Given the description of an element on the screen output the (x, y) to click on. 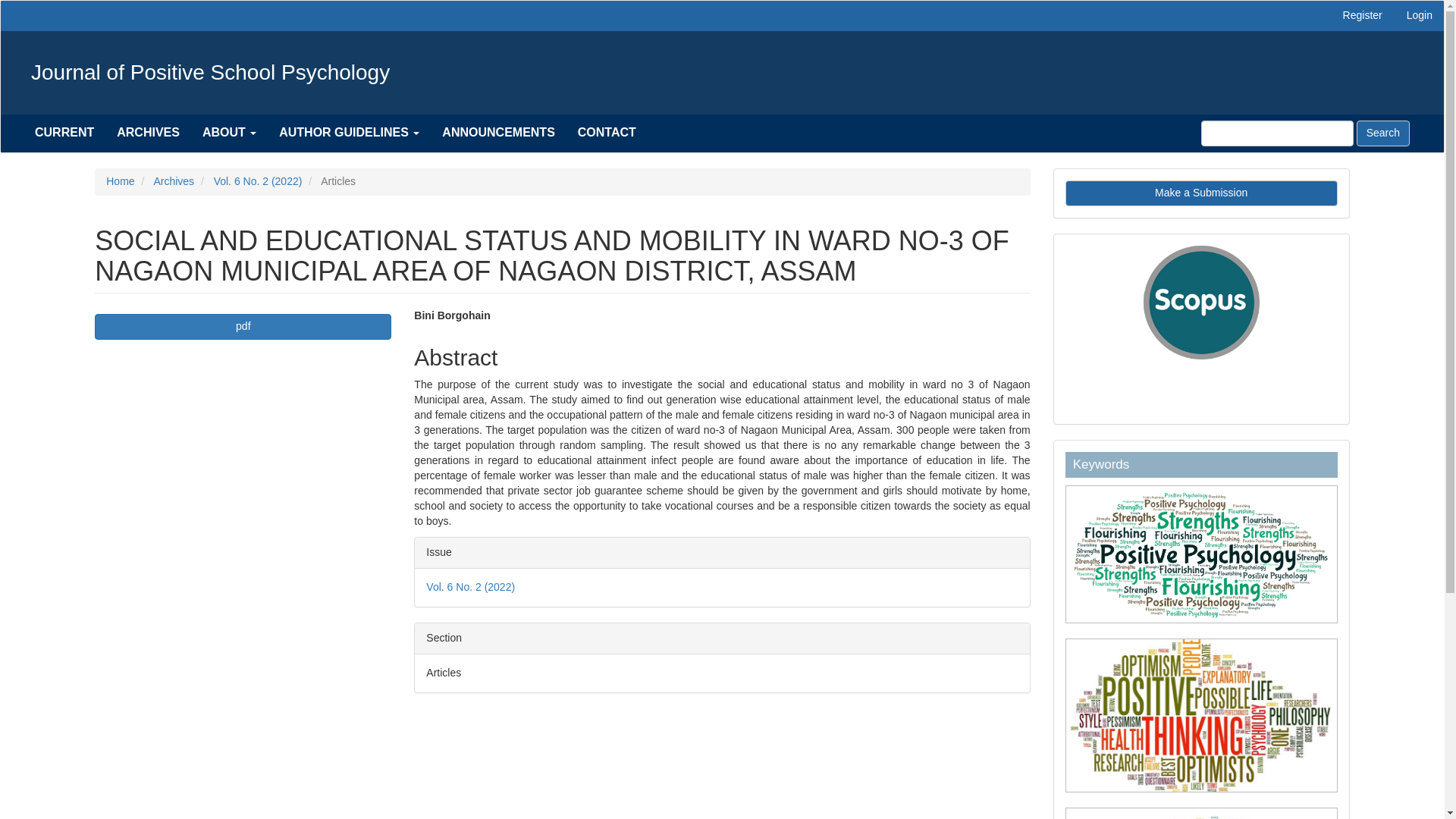
pdf (242, 326)
ARCHIVES (147, 132)
Register (1362, 15)
Make a Submission (1201, 193)
ANNOUNCEMENTS (498, 132)
CONTACT (606, 132)
Home (119, 181)
CURRENT (63, 132)
Journal of Positive School Psychology (210, 72)
ABOUT (228, 132)
Login (1419, 15)
Archives (172, 181)
Search (1382, 133)
AUTHOR GUIDELINES (348, 132)
